Given the description of an element on the screen output the (x, y) to click on. 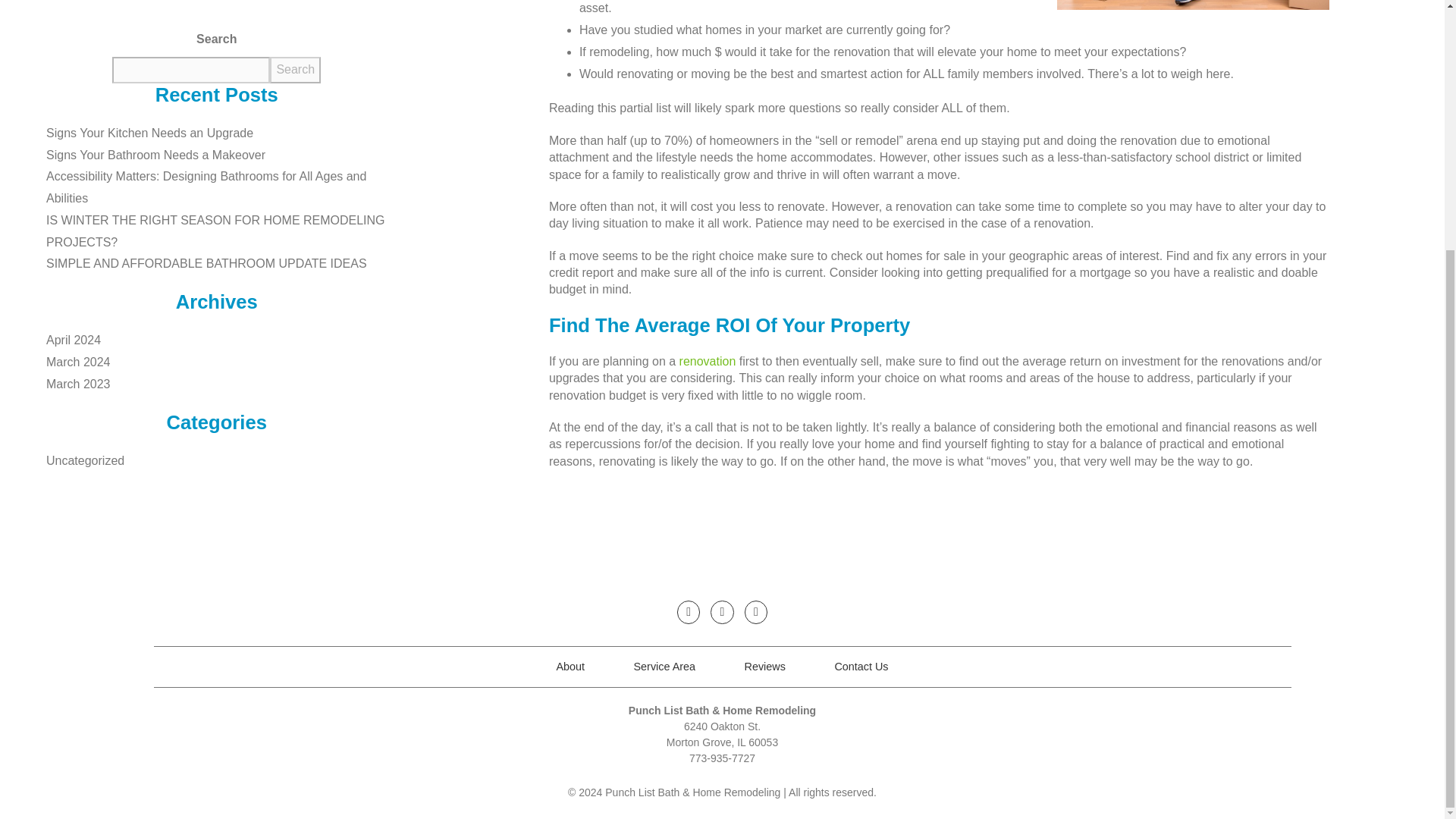
IS WINTER THE RIGHT SEASON FOR HOME REMODELING PROJECTS? (224, 231)
Facebook (688, 611)
Signs Your Bathroom Needs a Makeover (224, 155)
Search (294, 69)
renovation (707, 360)
Signs Your Kitchen Needs an Upgrade (224, 133)
Yelp (755, 611)
Instagram (721, 611)
